Given the description of an element on the screen output the (x, y) to click on. 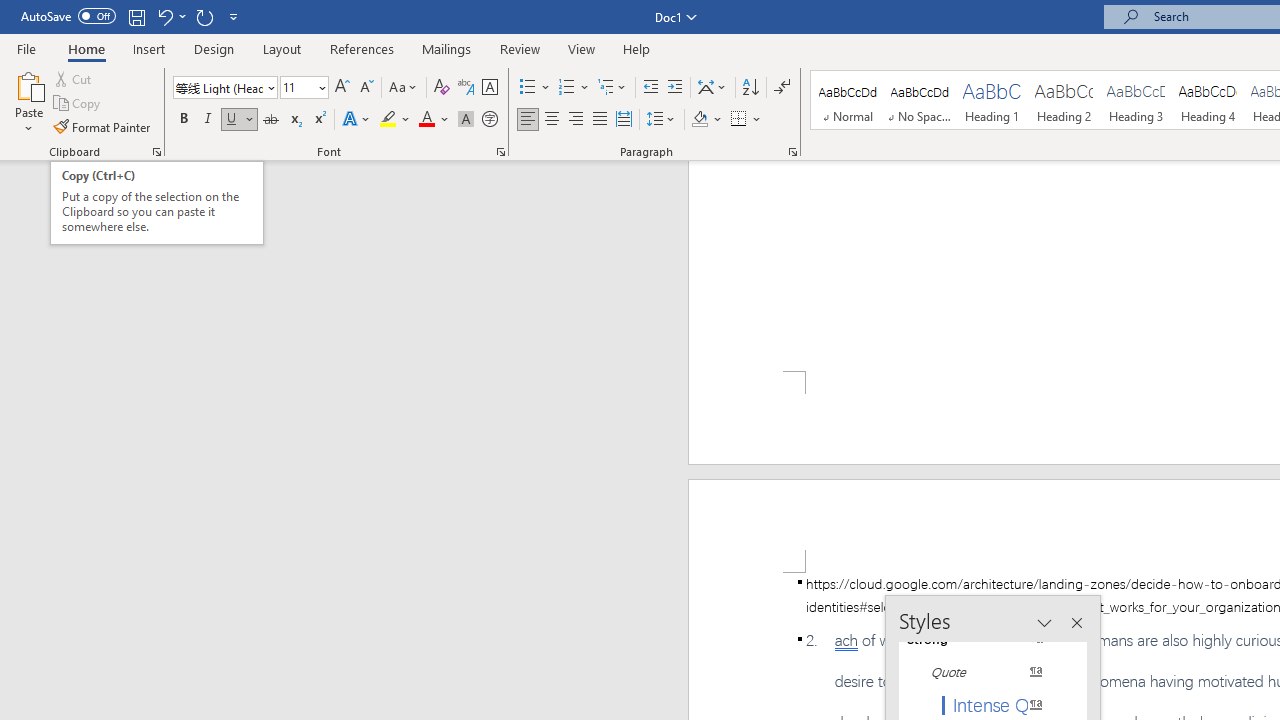
Undo Style (164, 15)
Heading 2 (1063, 100)
